Given the description of an element on the screen output the (x, y) to click on. 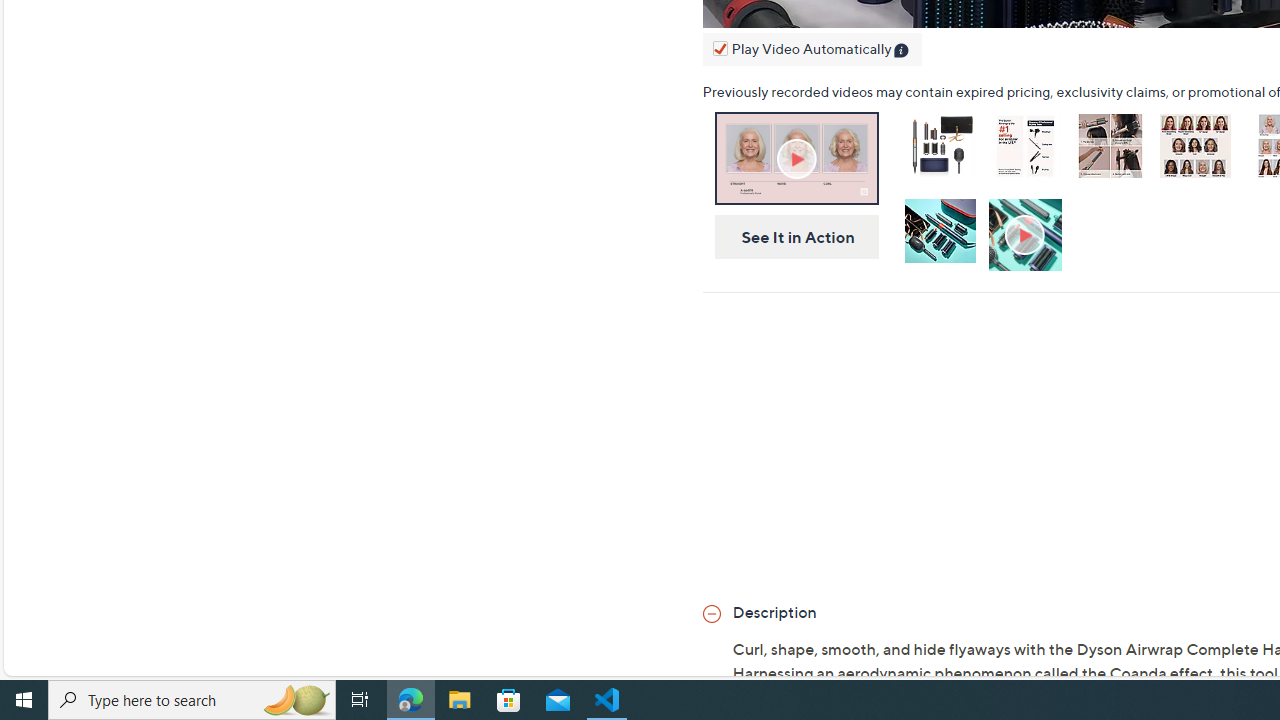
See It in Action (790, 237)
On-Air Presentation (795, 158)
Dyson Airwrap Complete with Paddle Brush and Travel Pouch (939, 145)
How to Use (1027, 236)
Class: infoIcon (902, 52)
Dyson Airwrap Complete with Paddle Brush and Travel Pouch (939, 149)
